Given the description of an element on the screen output the (x, y) to click on. 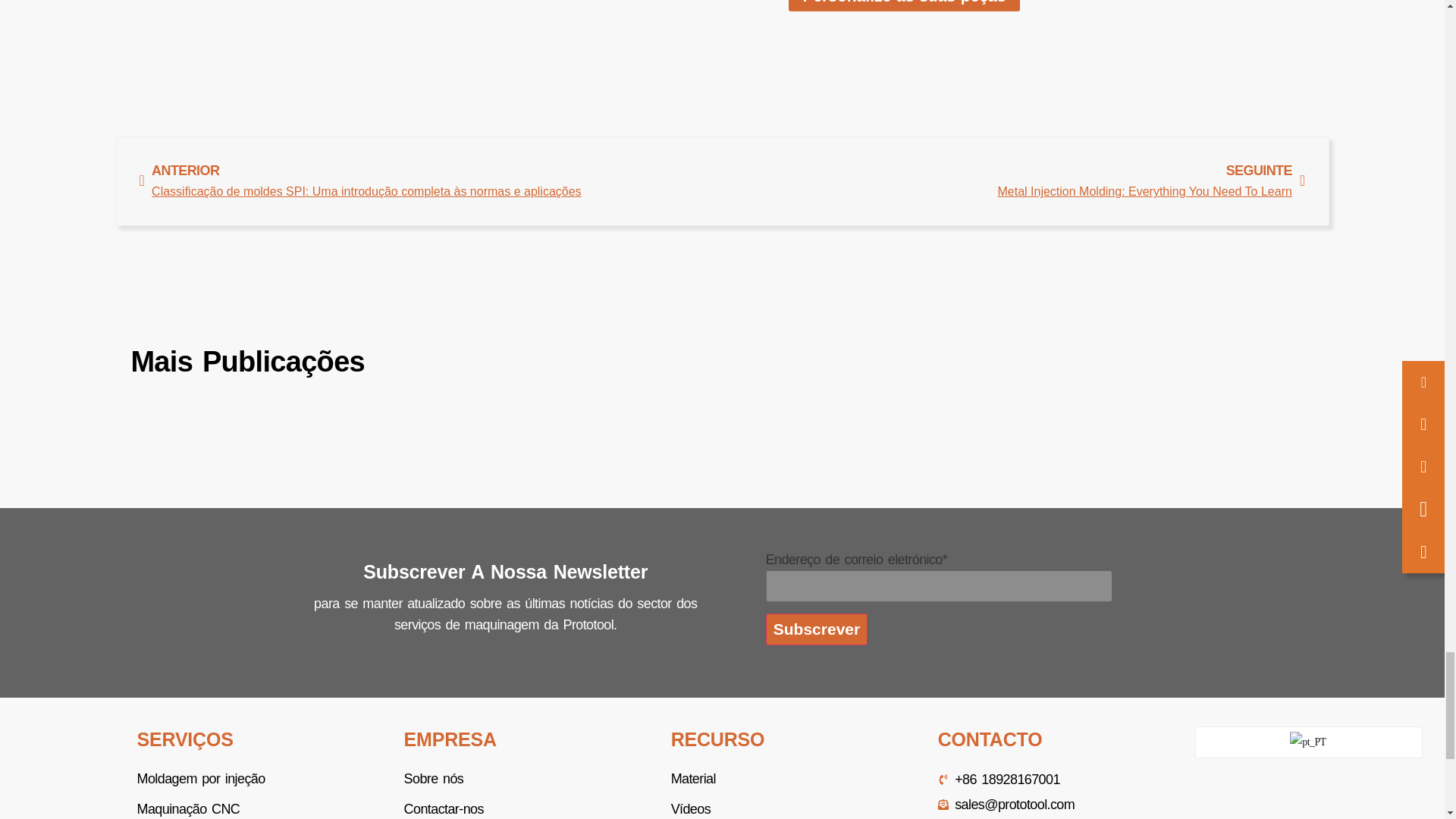
Portuguese (1308, 742)
Portuguese (1307, 742)
Subscrever (816, 629)
